Given the description of an element on the screen output the (x, y) to click on. 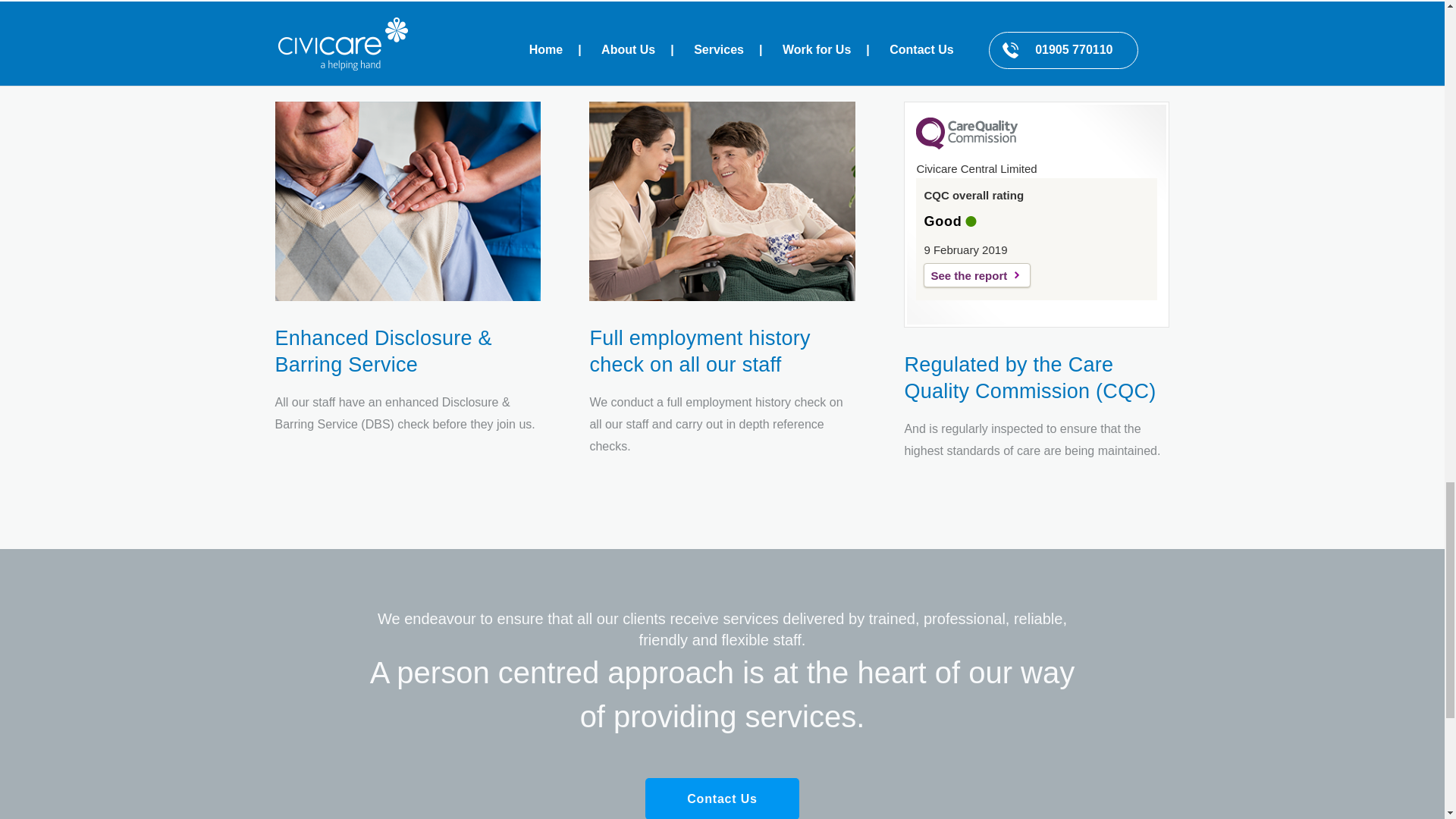
CQC Logo (966, 145)
Contact Us (721, 798)
See the report (976, 274)
ablut6 (407, 201)
about7 (721, 201)
